Given the description of an element on the screen output the (x, y) to click on. 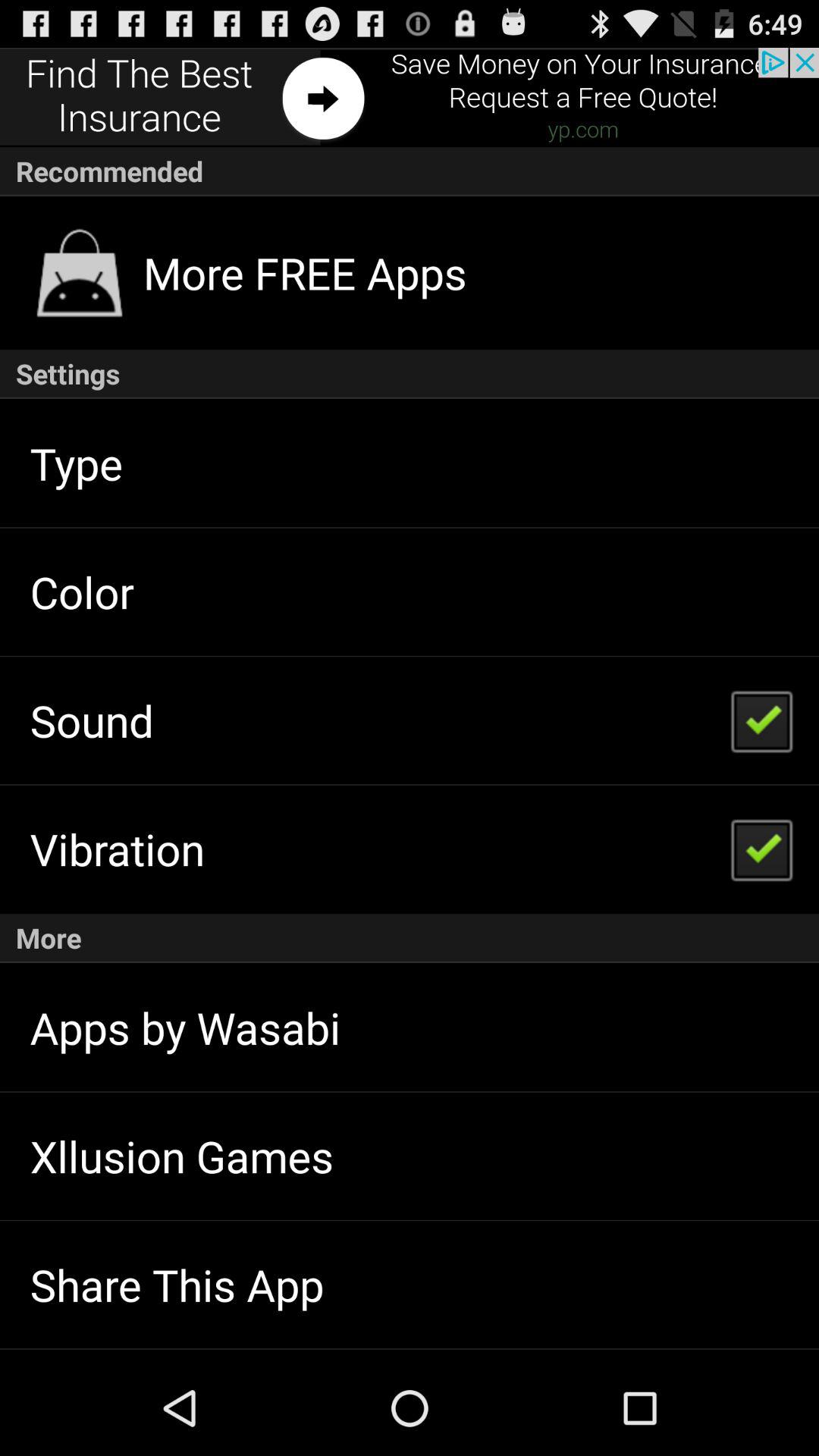
open advertisement (409, 97)
